Given the description of an element on the screen output the (x, y) to click on. 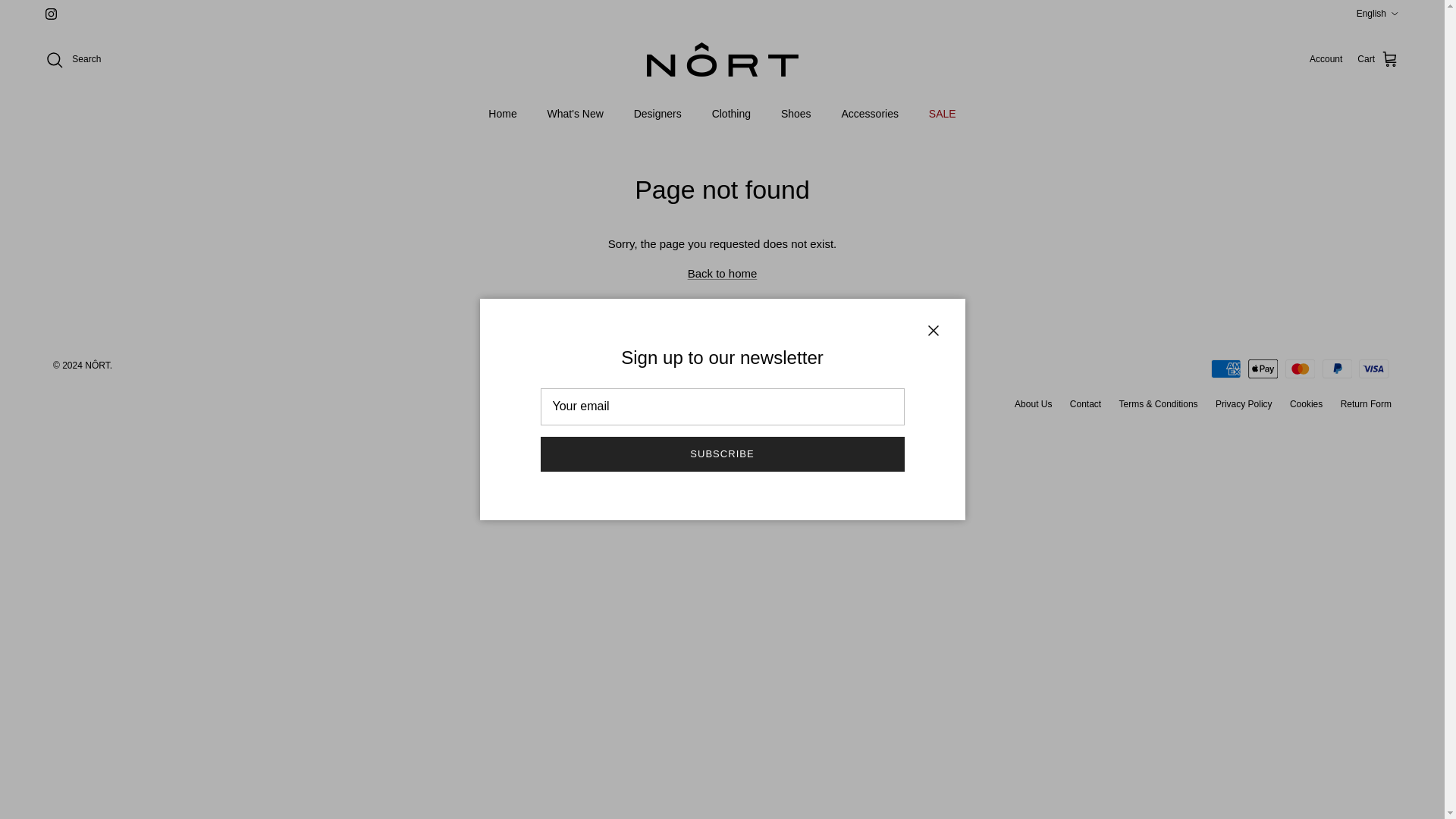
Apple Pay (1262, 368)
PayPal (1337, 368)
English (1377, 13)
What's New (575, 113)
Mastercard (1299, 368)
Account (1325, 59)
American Express (1225, 368)
Home (501, 113)
Search (72, 58)
Visa (1373, 368)
